Given the description of an element on the screen output the (x, y) to click on. 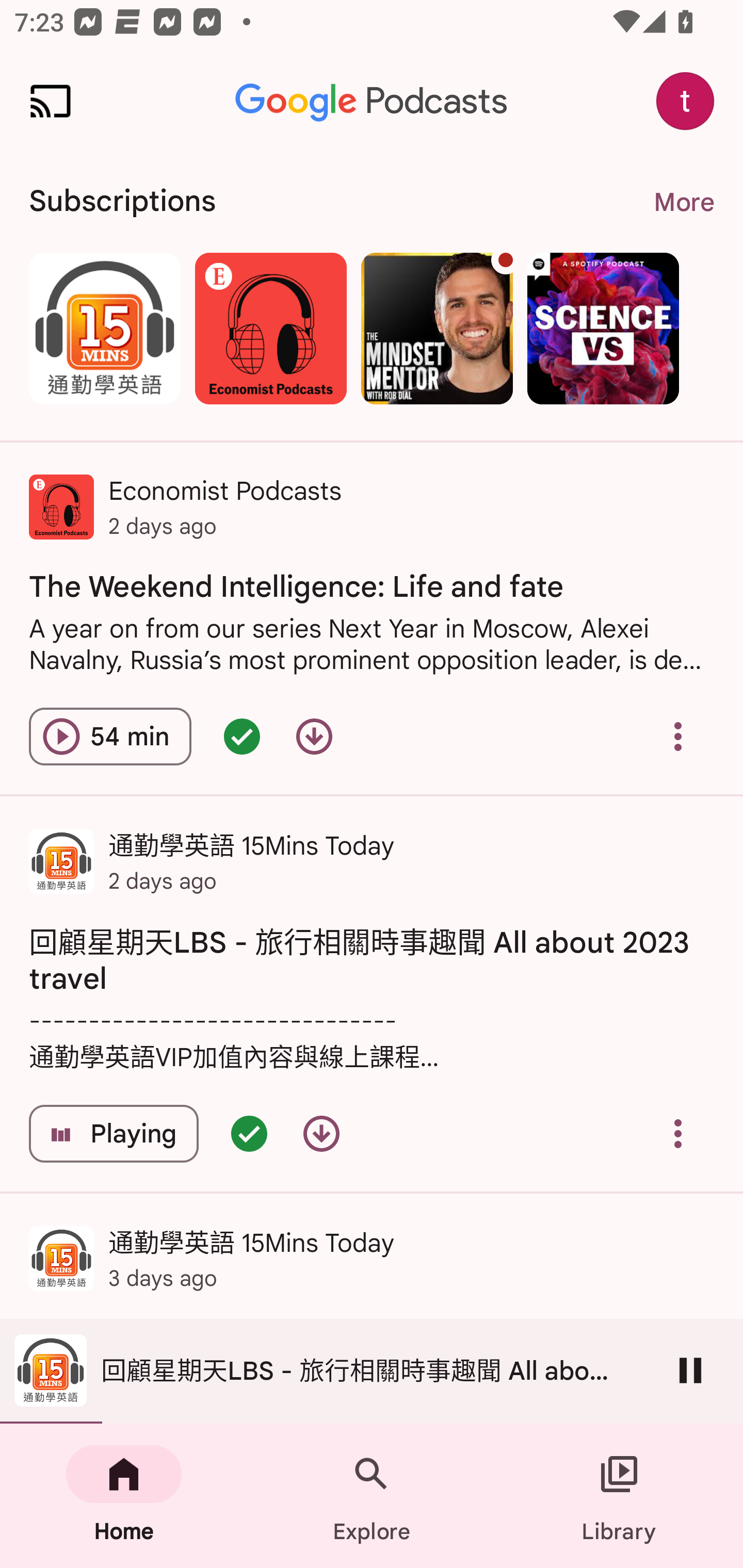
Cast. Disconnected (50, 101)
More More. Navigate to subscriptions page. (683, 202)
通勤學英語 15Mins Today (104, 328)
Economist Podcasts (270, 328)
The Mindset Mentor (436, 328)
Science Vs (603, 328)
Episode queued - double tap for options (241, 736)
Download episode (313, 736)
Overflow menu (677, 736)
Episode queued - double tap for options (249, 1133)
Download episode (321, 1133)
Overflow menu (677, 1133)
Pause (690, 1370)
Explore (371, 1495)
Library (619, 1495)
